Given the description of an element on the screen output the (x, y) to click on. 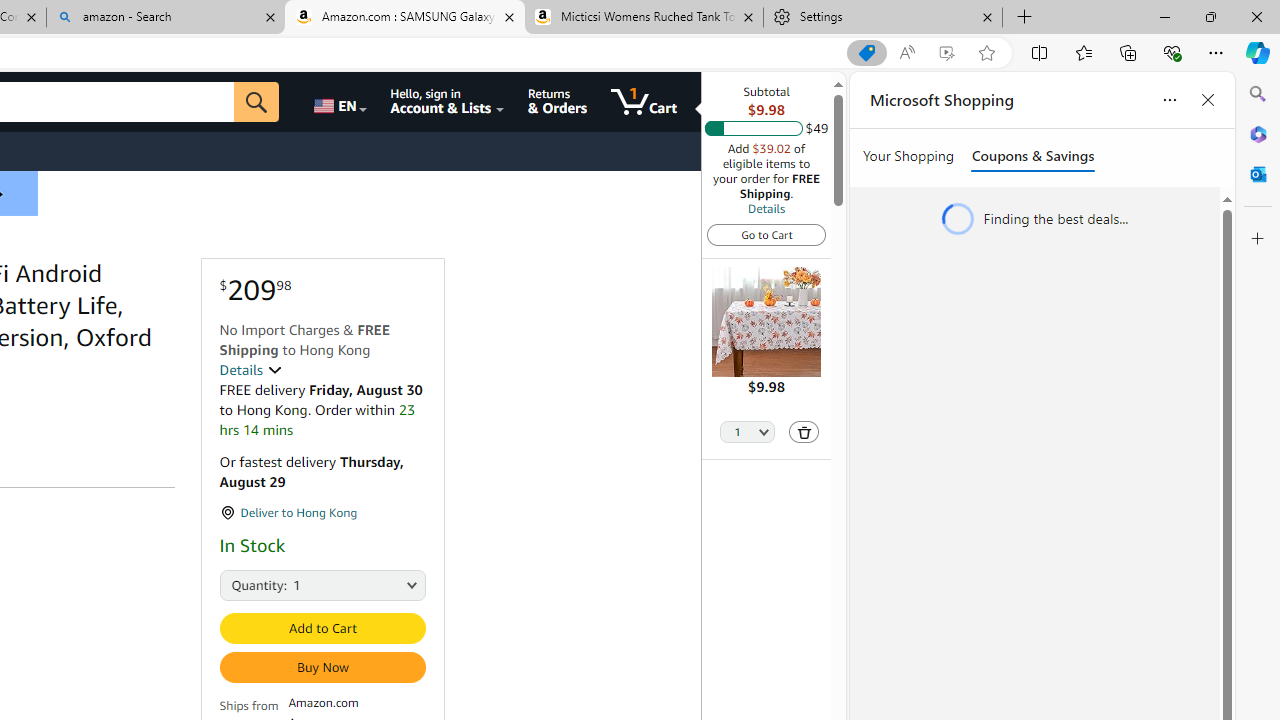
Quantity Selector (747, 433)
Quantity: (237, 584)
Hello, sign in Account & Lists (447, 101)
Add to Cart (322, 628)
Choose a language for shopping. (339, 101)
